Given the description of an element on the screen output the (x, y) to click on. 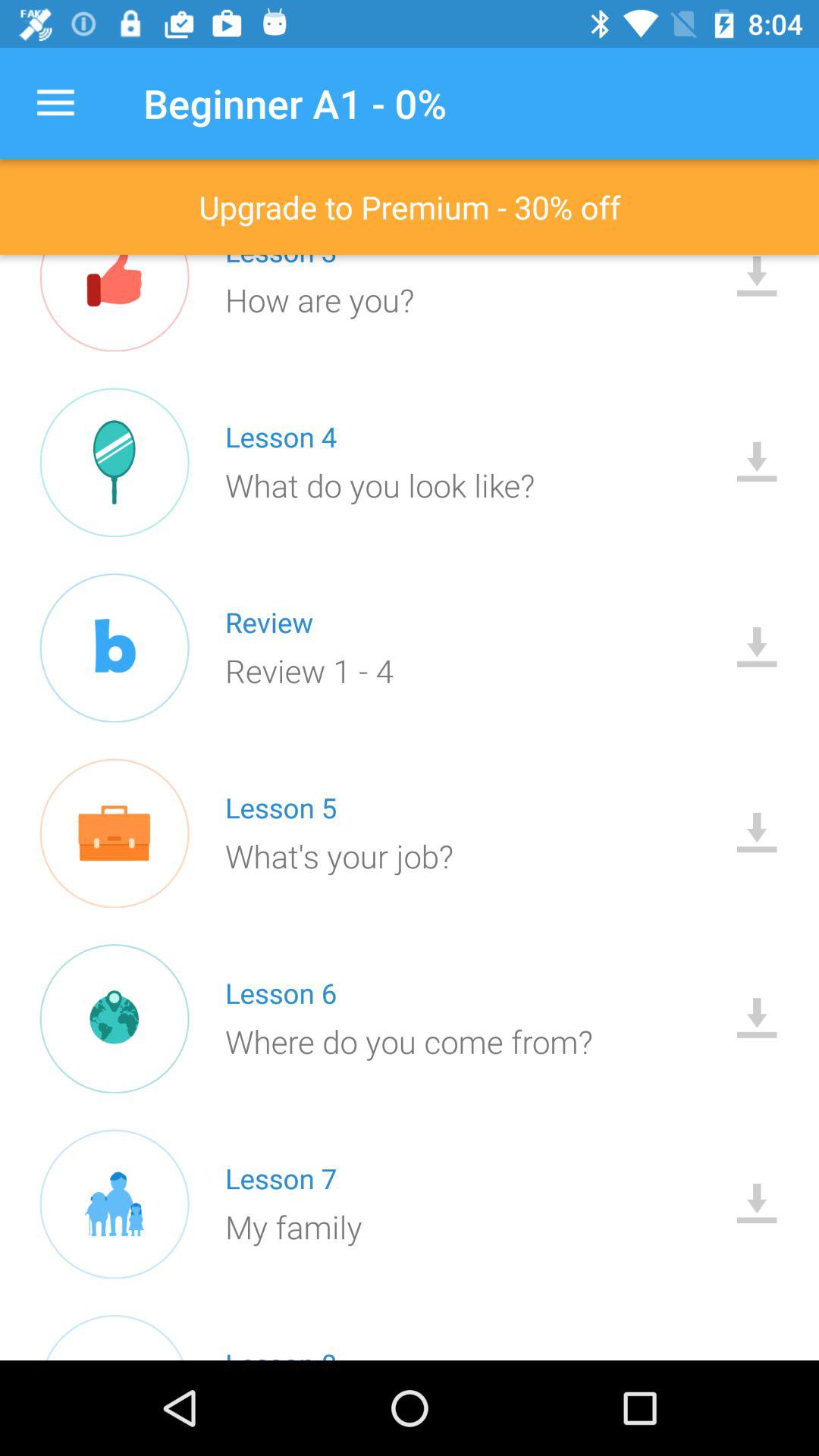
flip to the upgrade to premium (409, 206)
